Given the description of an element on the screen output the (x, y) to click on. 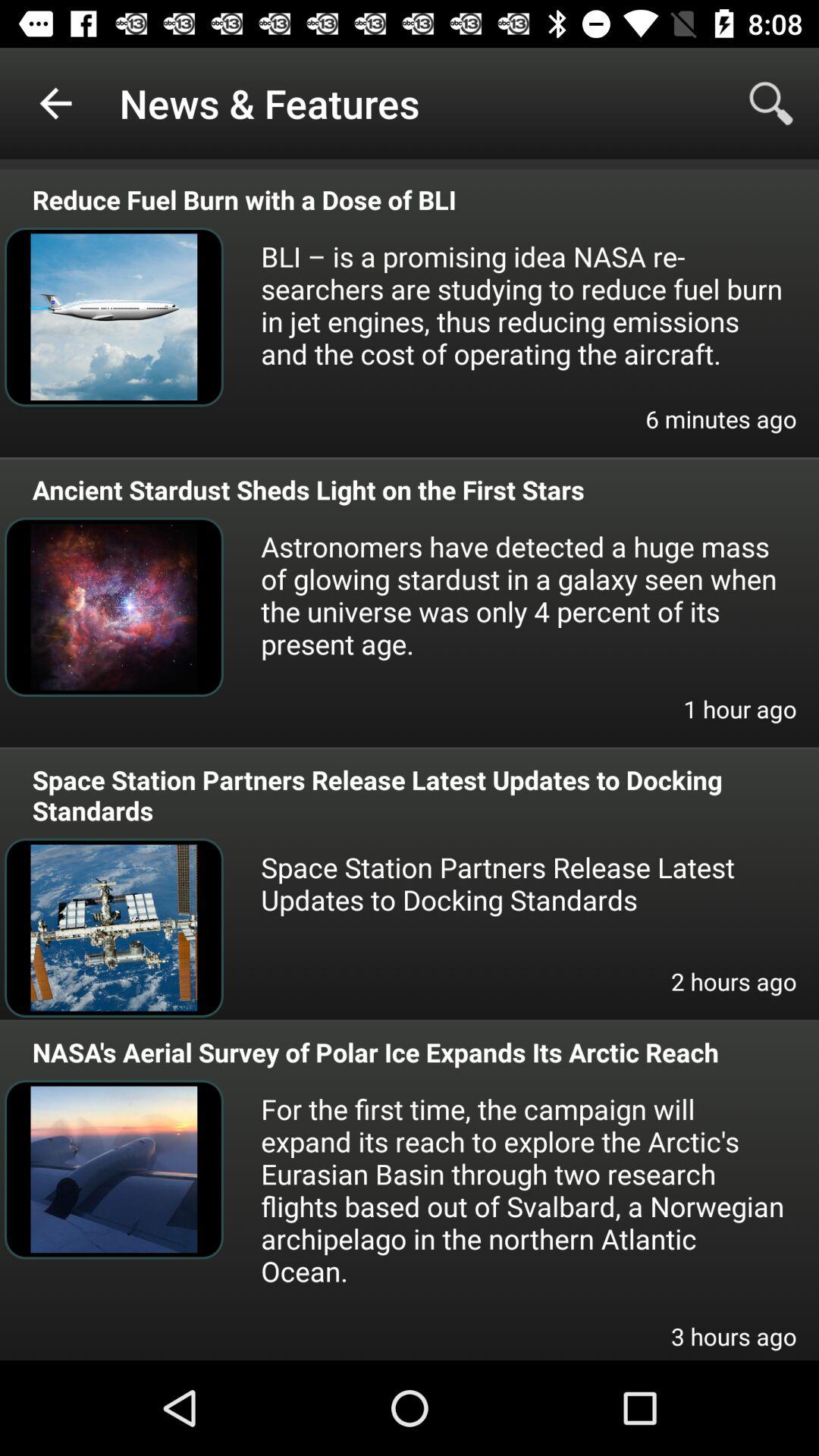
scroll to the 6 minutes ago item (720, 428)
